Given the description of an element on the screen output the (x, y) to click on. 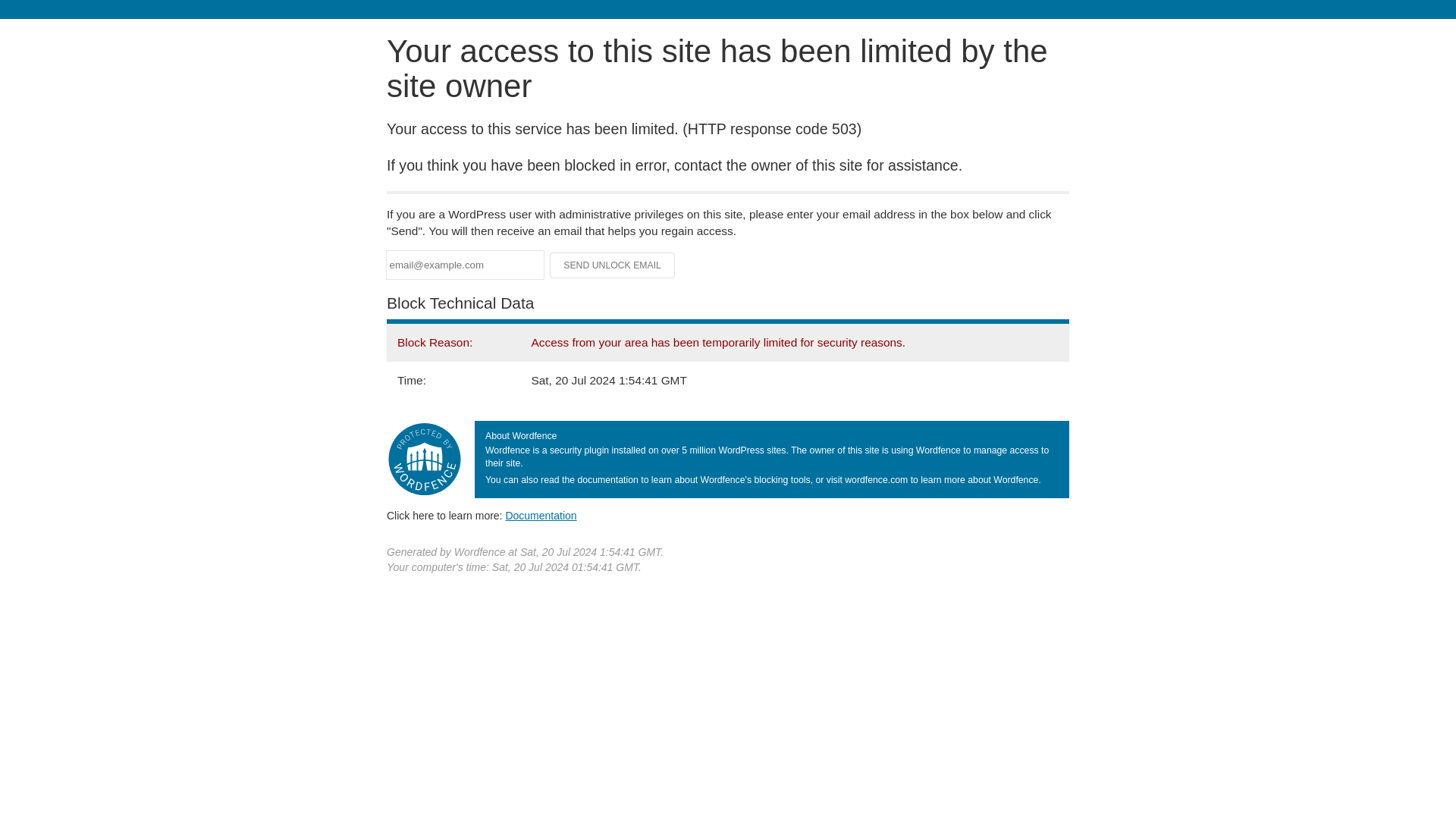
Send Unlock Email (612, 265)
Send Unlock Email (612, 265)
Documentation (540, 515)
